Given the description of an element on the screen output the (x, y) to click on. 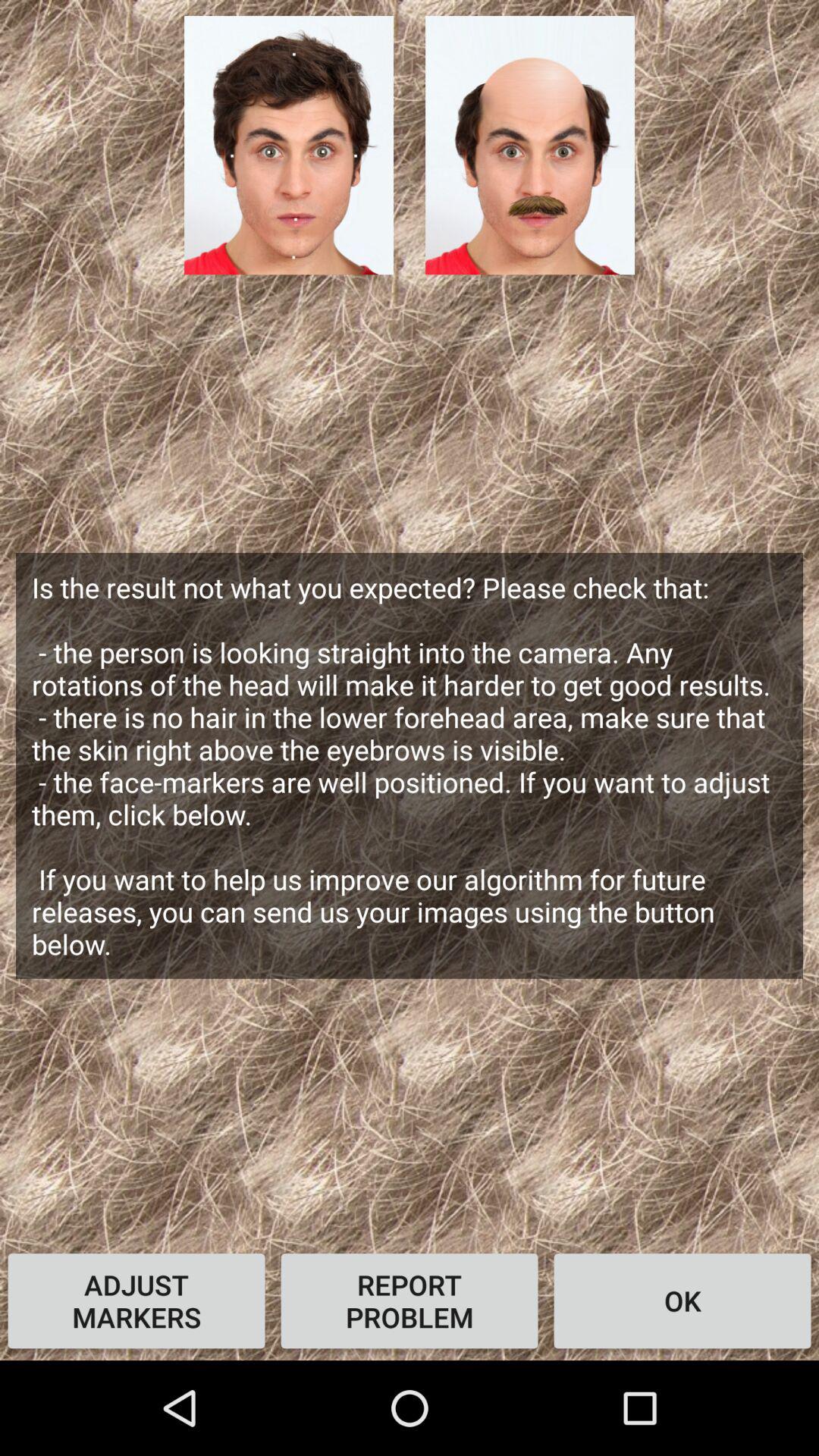
flip until the report problem item (409, 1300)
